Given the description of an element on the screen output the (x, y) to click on. 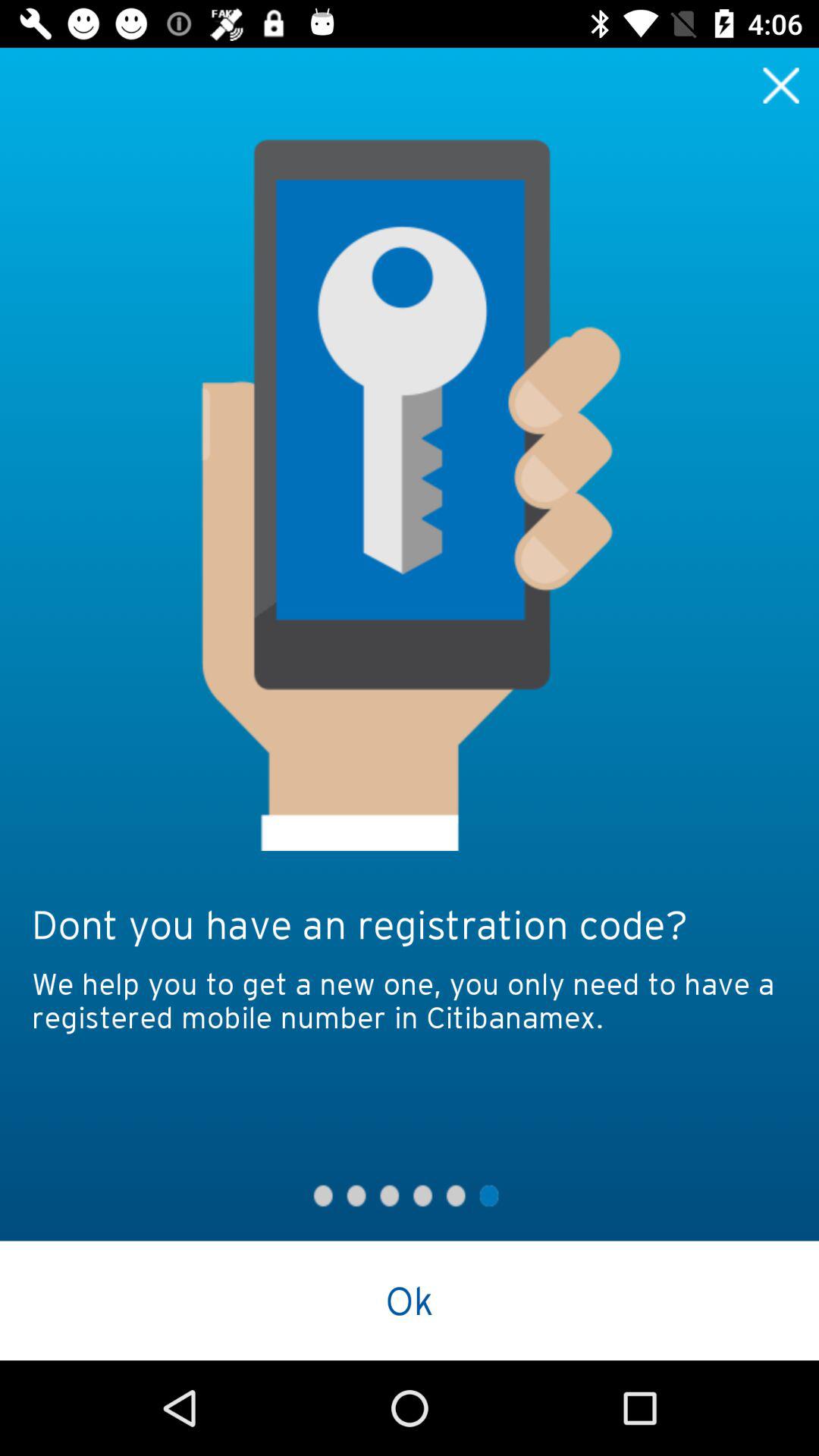
to choose (781, 85)
